Given the description of an element on the screen output the (x, y) to click on. 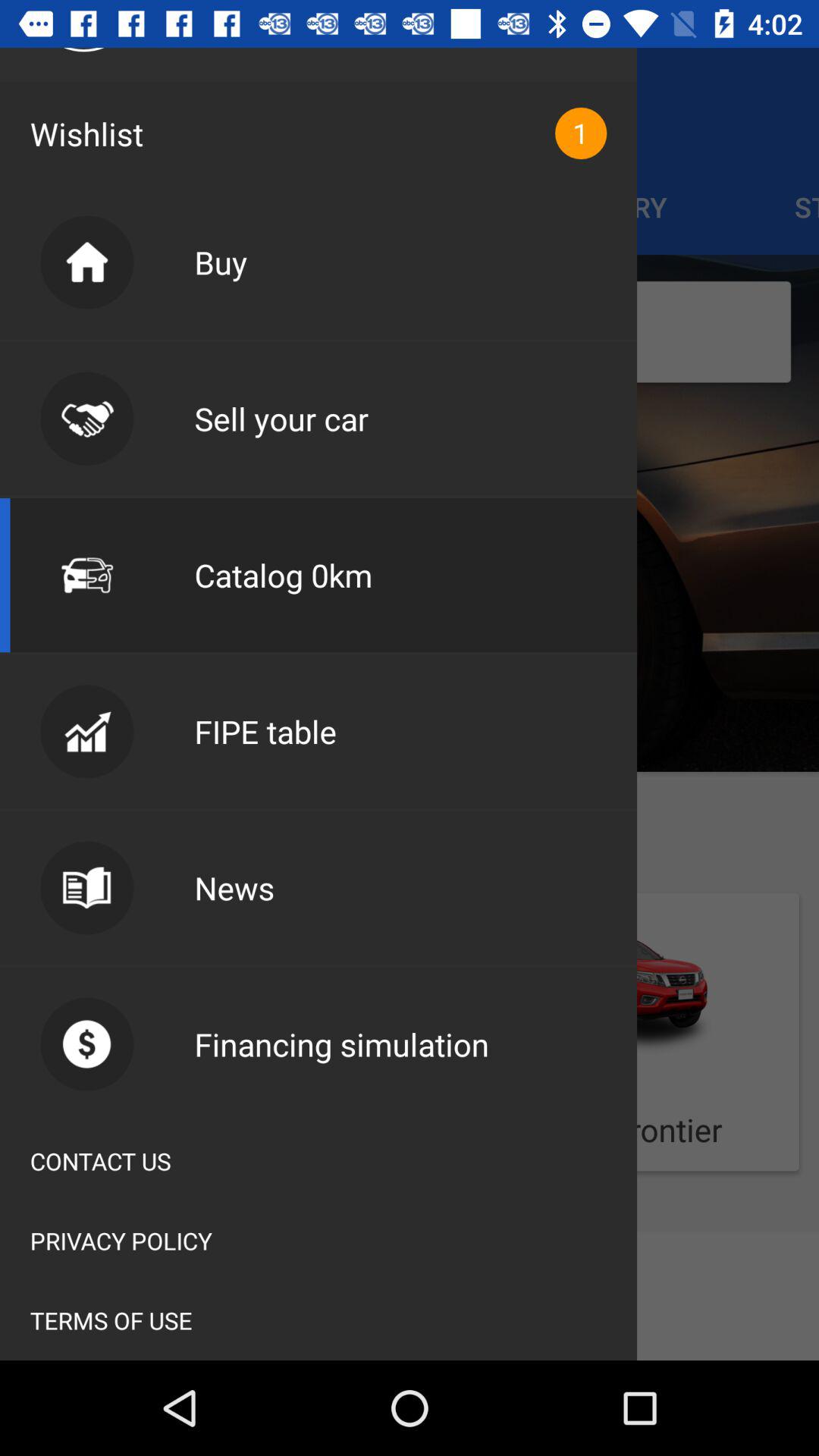
click on the image to the left of sell your car text (87, 418)
